Given the description of an element on the screen output the (x, y) to click on. 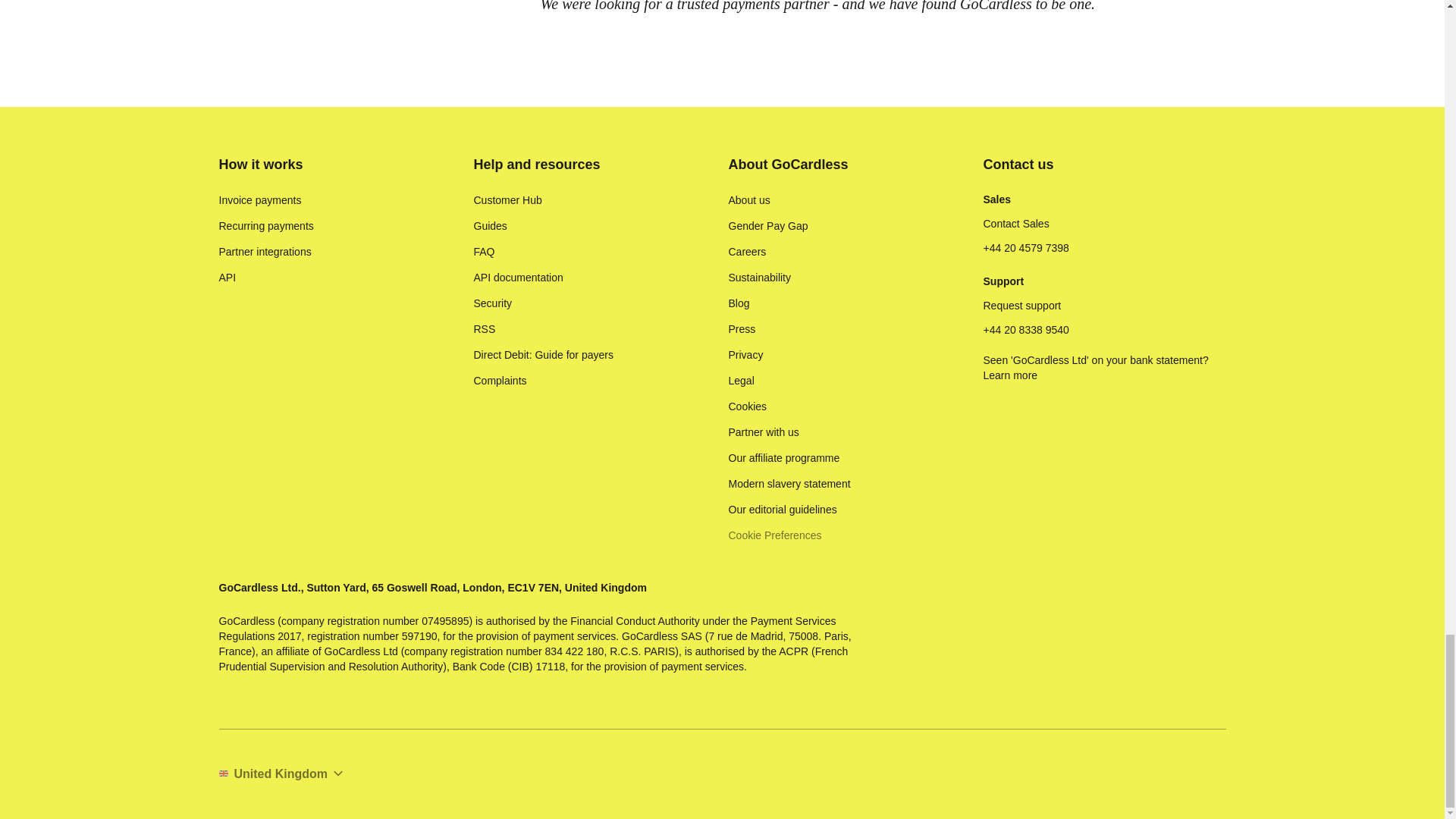
Gender Pay Gap (768, 225)
Customer Hub (507, 200)
RSS (484, 328)
Invoice payments (259, 200)
API (226, 277)
Careers (746, 251)
Guides (489, 225)
Security (492, 303)
API documentation (517, 277)
Complaints (499, 380)
